Given the description of an element on the screen output the (x, y) to click on. 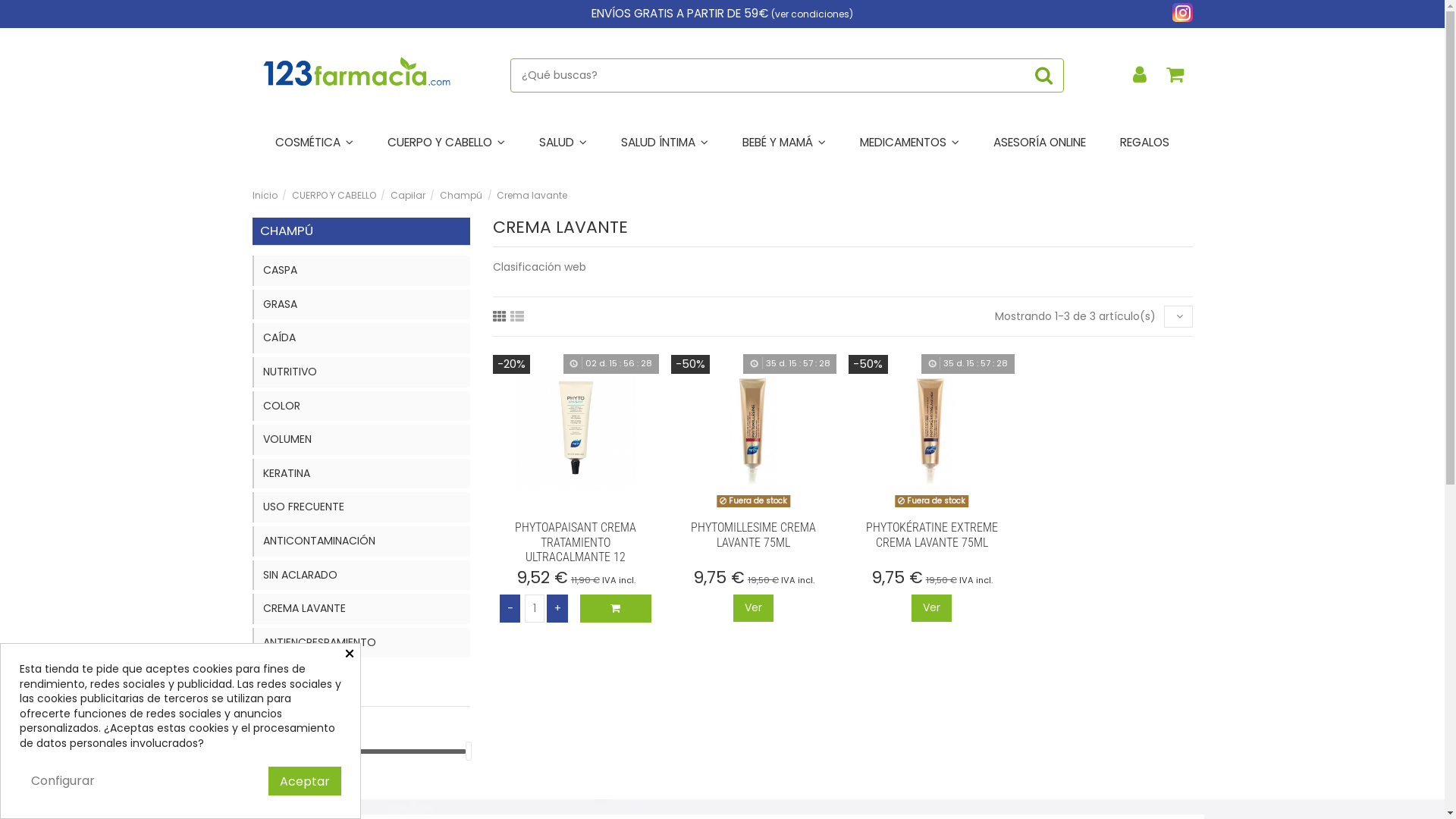
ANTIENCRESPAMIENTO Element type: text (360, 642)
CREMA LAVANTE Element type: text (360, 608)
PHYTOMILLESIME CREMA LAVANTE 75ML Element type: text (752, 534)
CUERPO Y CABELLO Element type: text (333, 194)
PHYTOAPAISANT CREMA TRATAMIENTO ULTRACALMANTE 12 Element type: text (575, 541)
VOLUMEN Element type: text (360, 439)
NUTRITIVO Element type: text (360, 372)
Ver Element type: text (753, 607)
CASPA Element type: text (360, 270)
Ver Element type: text (931, 607)
SIN ACLARADO Element type: text (360, 575)
Aceptar Element type: text (304, 780)
REGALOS Element type: text (1144, 142)
(ver condiciones) Element type: text (812, 13)
Capilar Element type: text (407, 194)
SALUD Element type: text (562, 142)
Configurar Element type: text (62, 780)
USO FRECUENTE Element type: text (360, 507)
COLOR Element type: text (360, 406)
GRASA Element type: text (360, 304)
KERATINA Element type: text (360, 473)
+ Element type: text (556, 608)
Acceda a su cuenta de cliente Element type: hover (1139, 75)
CUERPO Y CABELLO Element type: text (446, 142)
Inicio Element type: text (265, 194)
- Element type: text (509, 608)
MEDICAMENTOS Element type: text (909, 142)
